Given the description of an element on the screen output the (x, y) to click on. 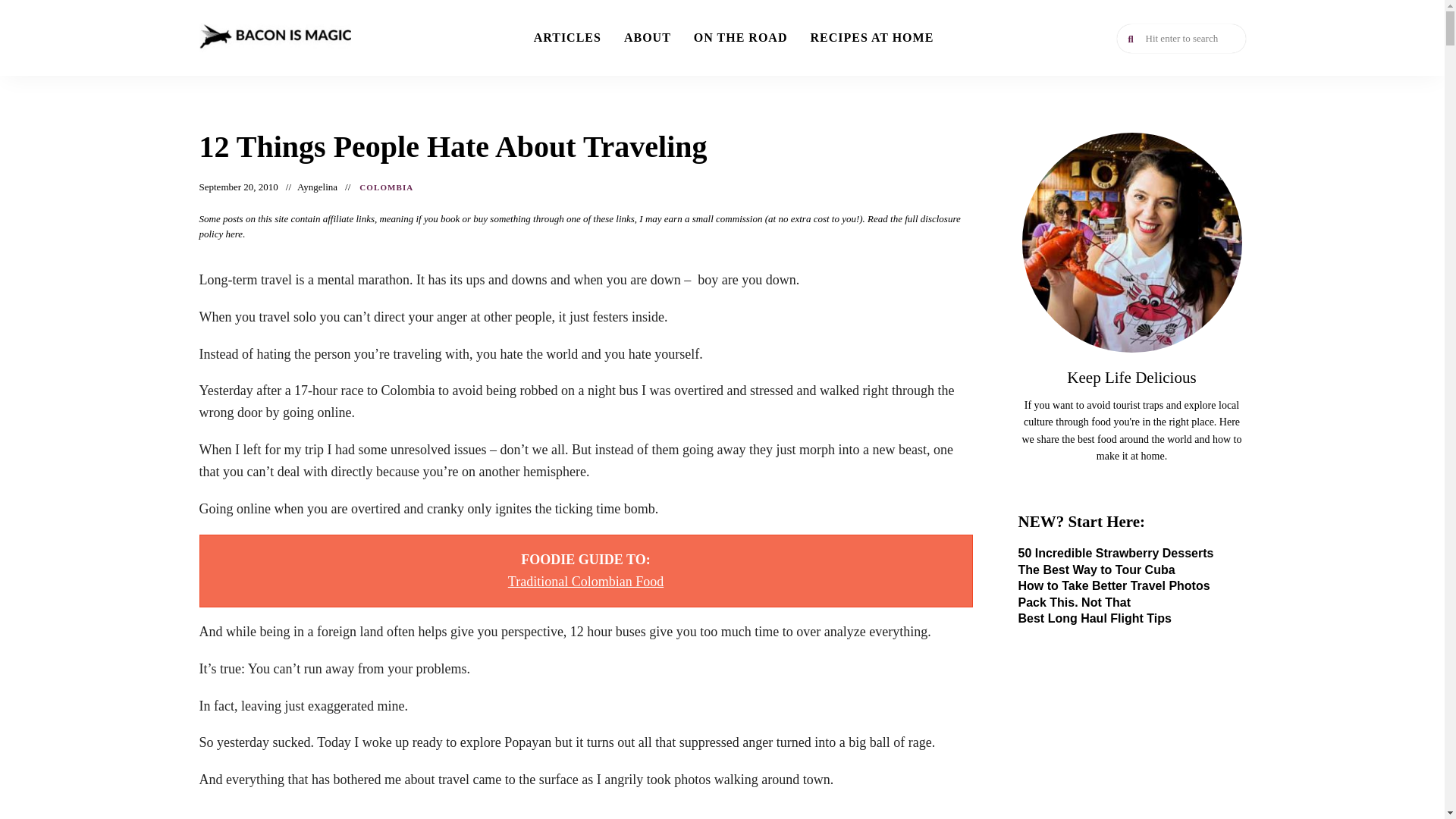
Traditional Colombian Food (585, 581)
ABOUT (647, 38)
RECIPES AT HOME (870, 38)
ARTICLES (567, 38)
ON THE ROAD (740, 38)
COLOMBIA (386, 187)
